Given the description of an element on the screen output the (x, y) to click on. 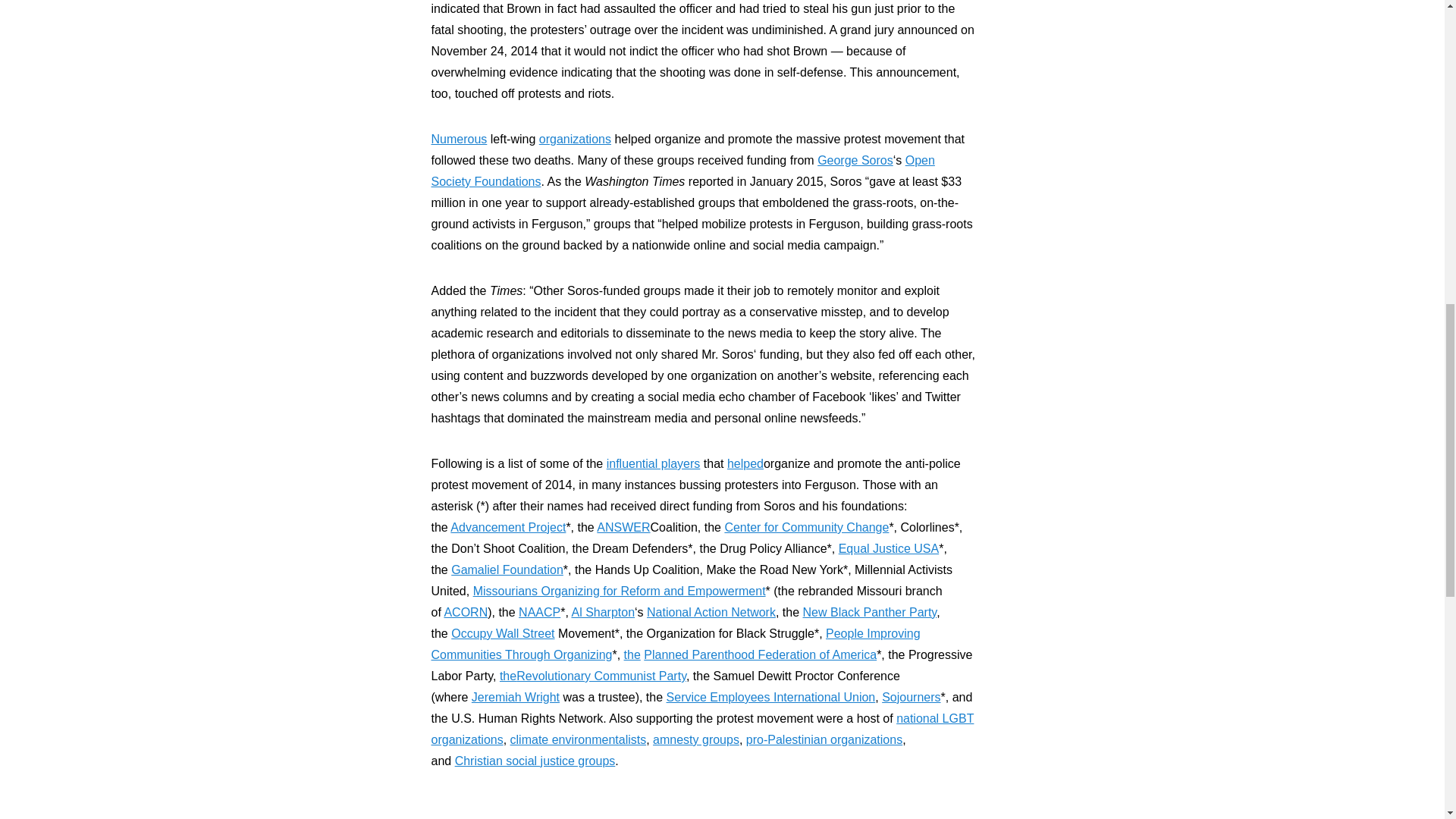
climate environmentalists (578, 739)
Revolutionary Communist Party (600, 675)
the (507, 675)
Jeremiah Wright (515, 697)
influential players (653, 463)
Al Sharpton (602, 612)
Planned Parenthood Federation of America (759, 654)
Sojourners (911, 697)
Numerous (458, 138)
amnesty groups (695, 739)
